Given the description of an element on the screen output the (x, y) to click on. 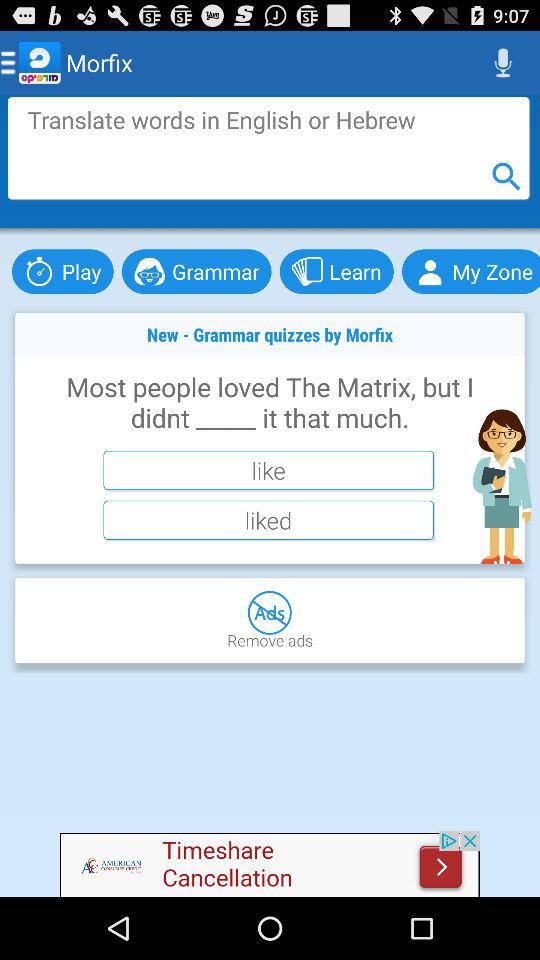
advertisement (268, 148)
